Given the description of an element on the screen output the (x, y) to click on. 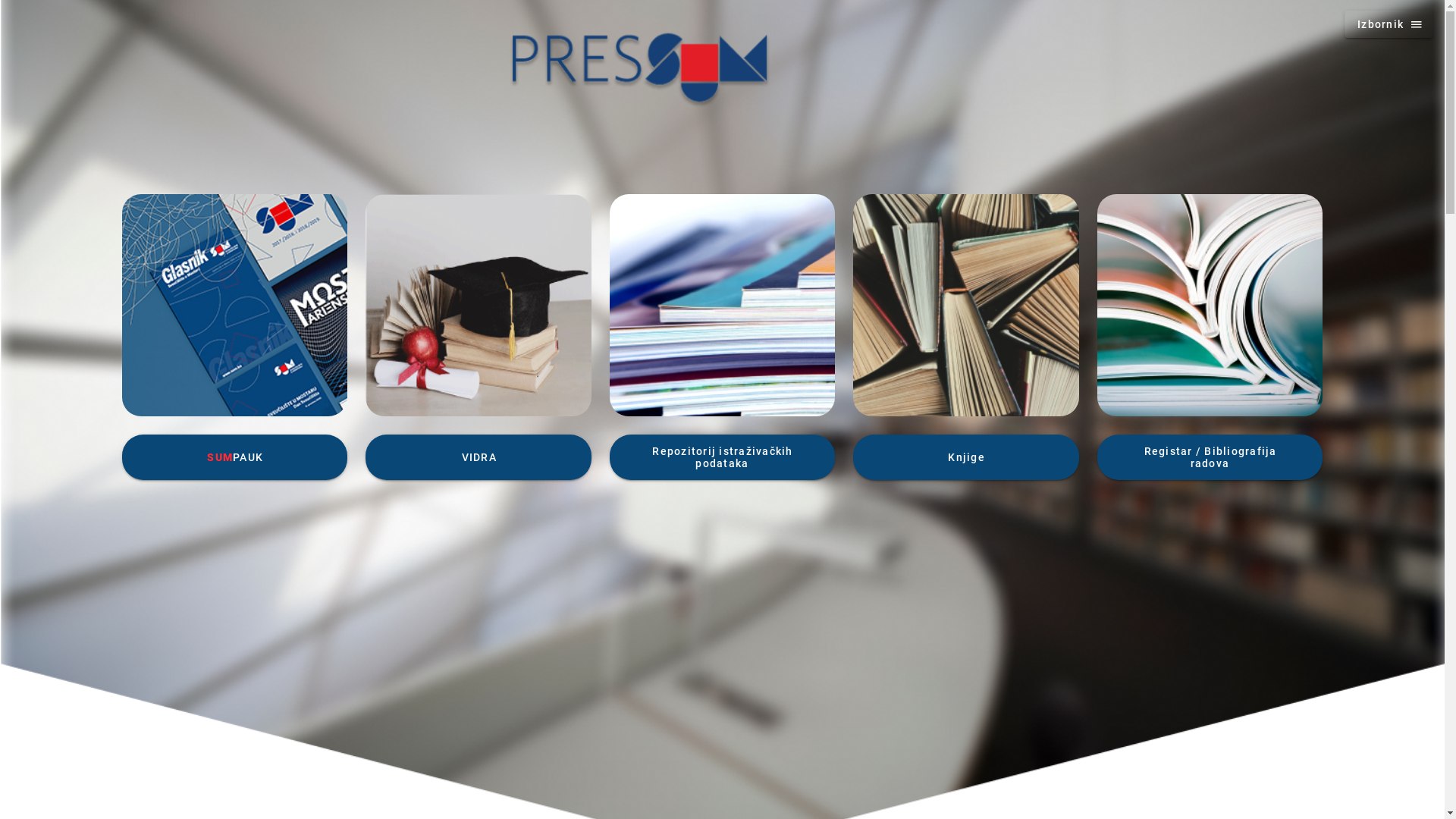
Izbornik Element type: text (1388, 23)
VIDRA Element type: text (477, 457)
Registar / Bibliografija
radova Element type: text (1209, 457)
SUMPAUK Element type: text (234, 457)
Knjige Element type: text (965, 457)
